Given the description of an element on the screen output the (x, y) to click on. 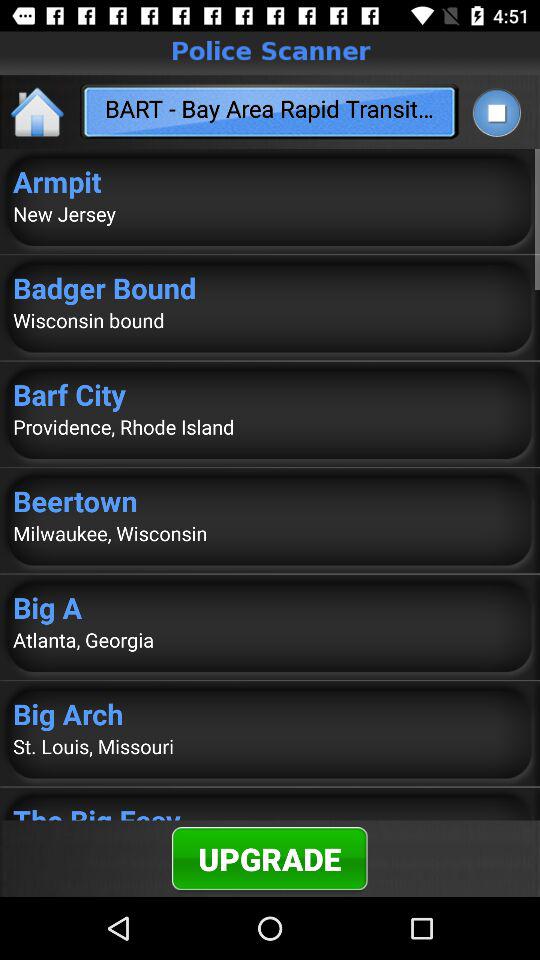
turn on app below the armpit app (269, 213)
